Given the description of an element on the screen output the (x, y) to click on. 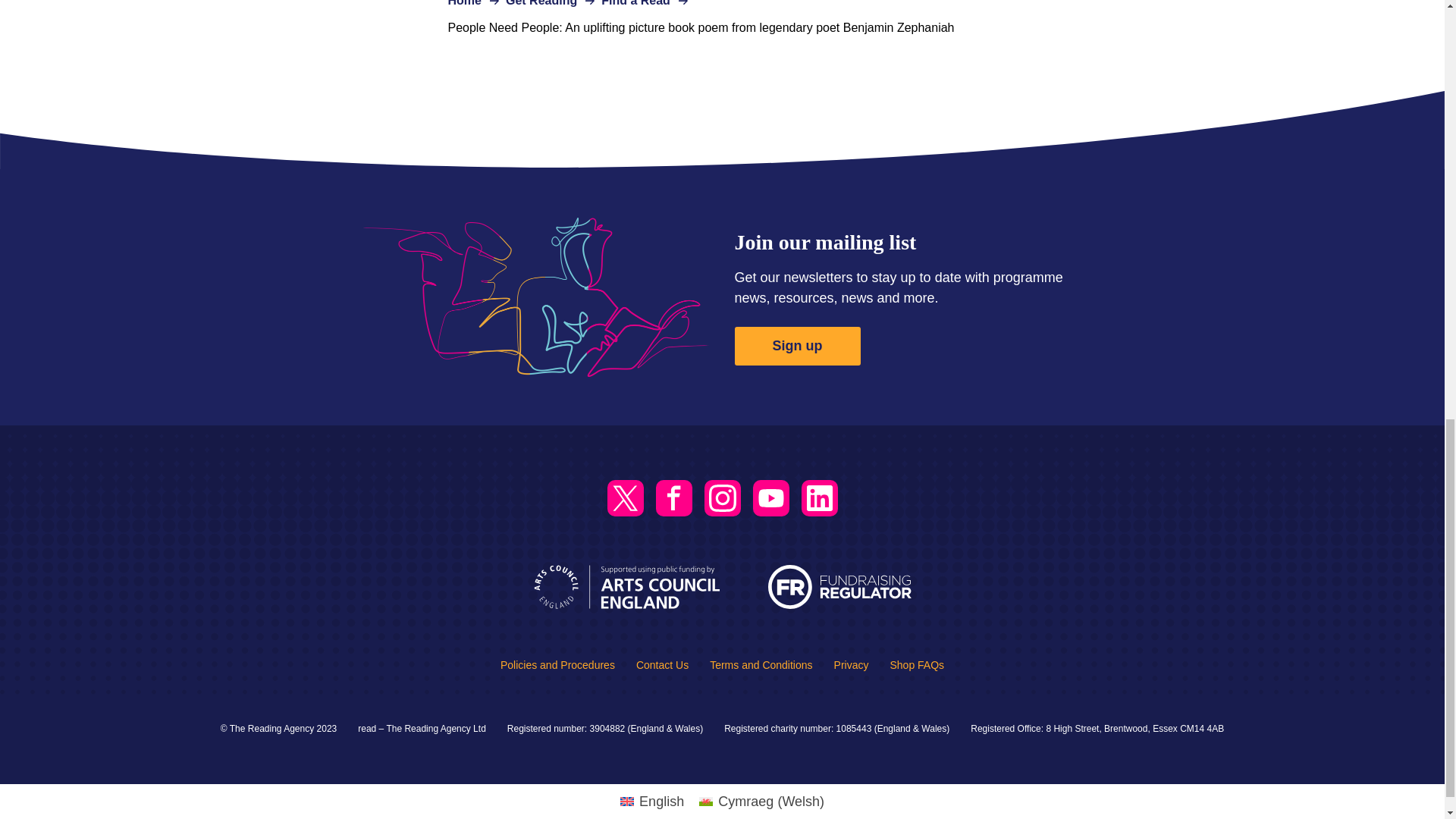
Privacy (851, 664)
Shop FAQs (916, 664)
Twitter (625, 497)
Instagram (721, 497)
LinedIn (818, 497)
Facebook (673, 497)
Contact Us (662, 664)
Get Reading (540, 3)
Sign up (796, 345)
YouTube (770, 497)
